Given the description of an element on the screen output the (x, y) to click on. 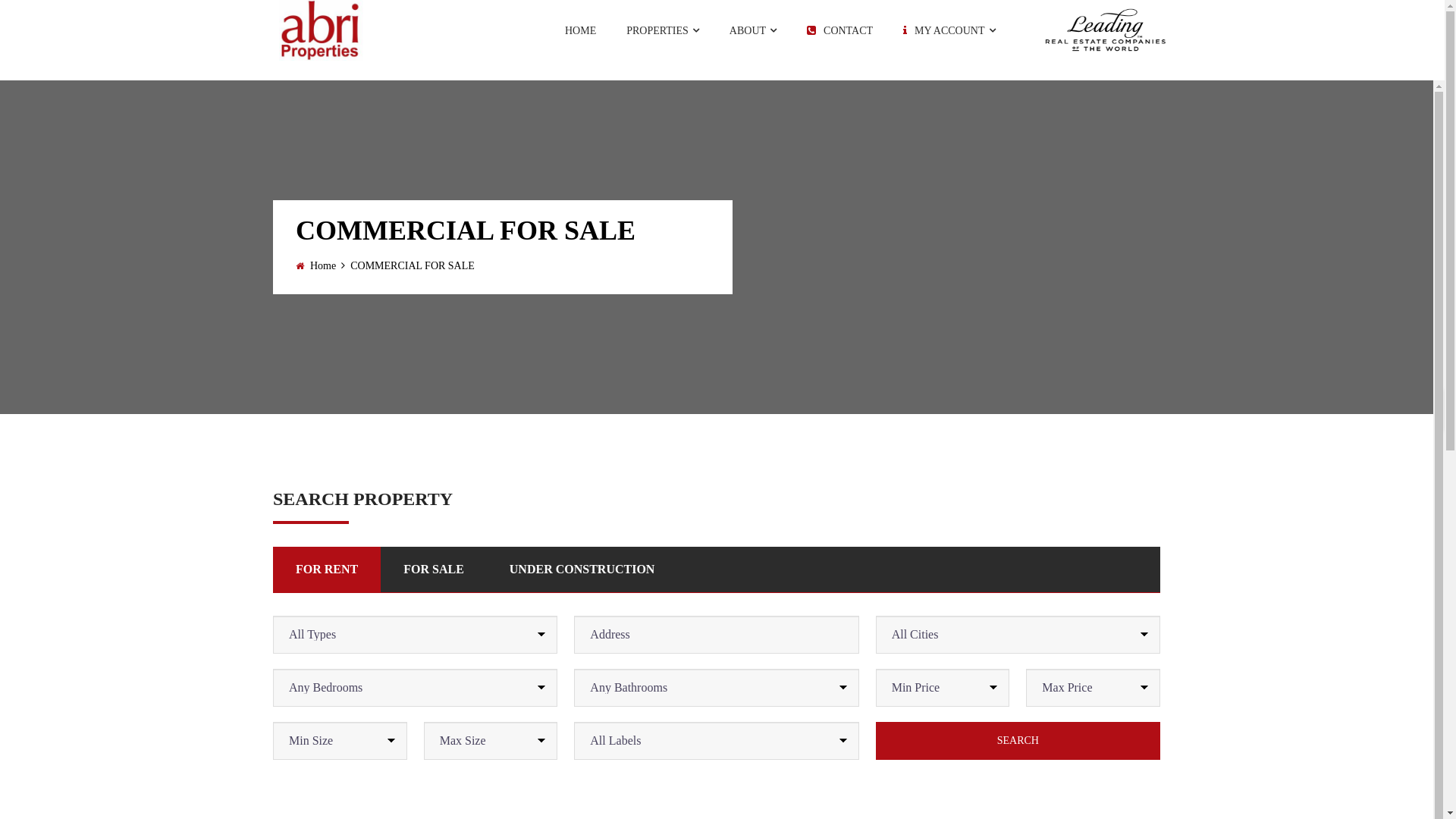
ABOUT Element type: text (752, 30)
FOR SALE Element type: text (433, 569)
HOME Element type: text (580, 30)
SEARCH Element type: text (1017, 740)
UNDER CONSTRUCTION Element type: text (581, 569)
CONTACT Element type: text (839, 30)
PROPERTIES Element type: text (662, 30)
FOR RENT Element type: text (326, 569)
Home Element type: text (322, 265)
MY ACCOUNT Element type: text (948, 30)
